Given the description of an element on the screen output the (x, y) to click on. 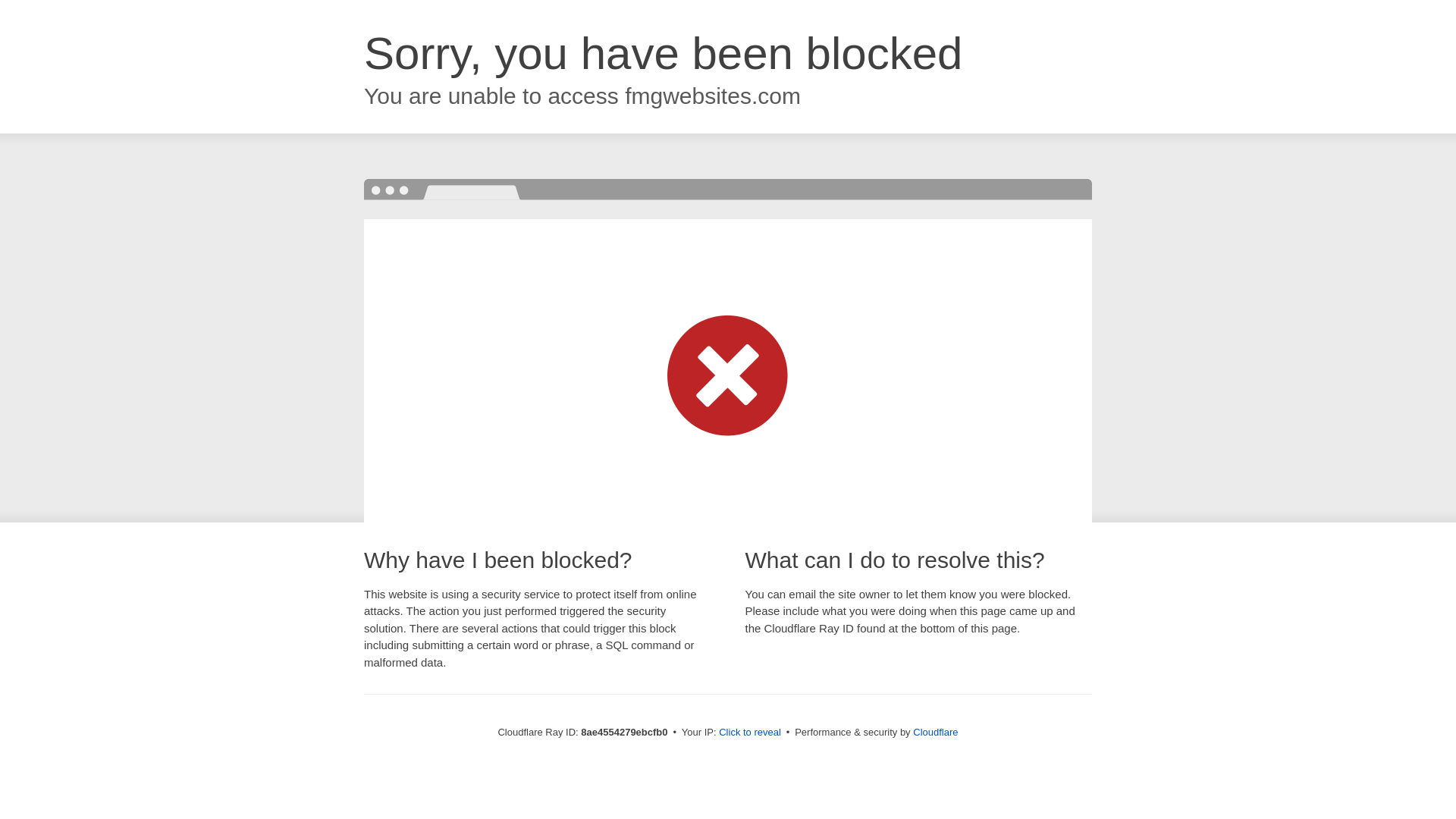
Cloudflare (935, 731)
Click to reveal (749, 732)
